Given the description of an element on the screen output the (x, y) to click on. 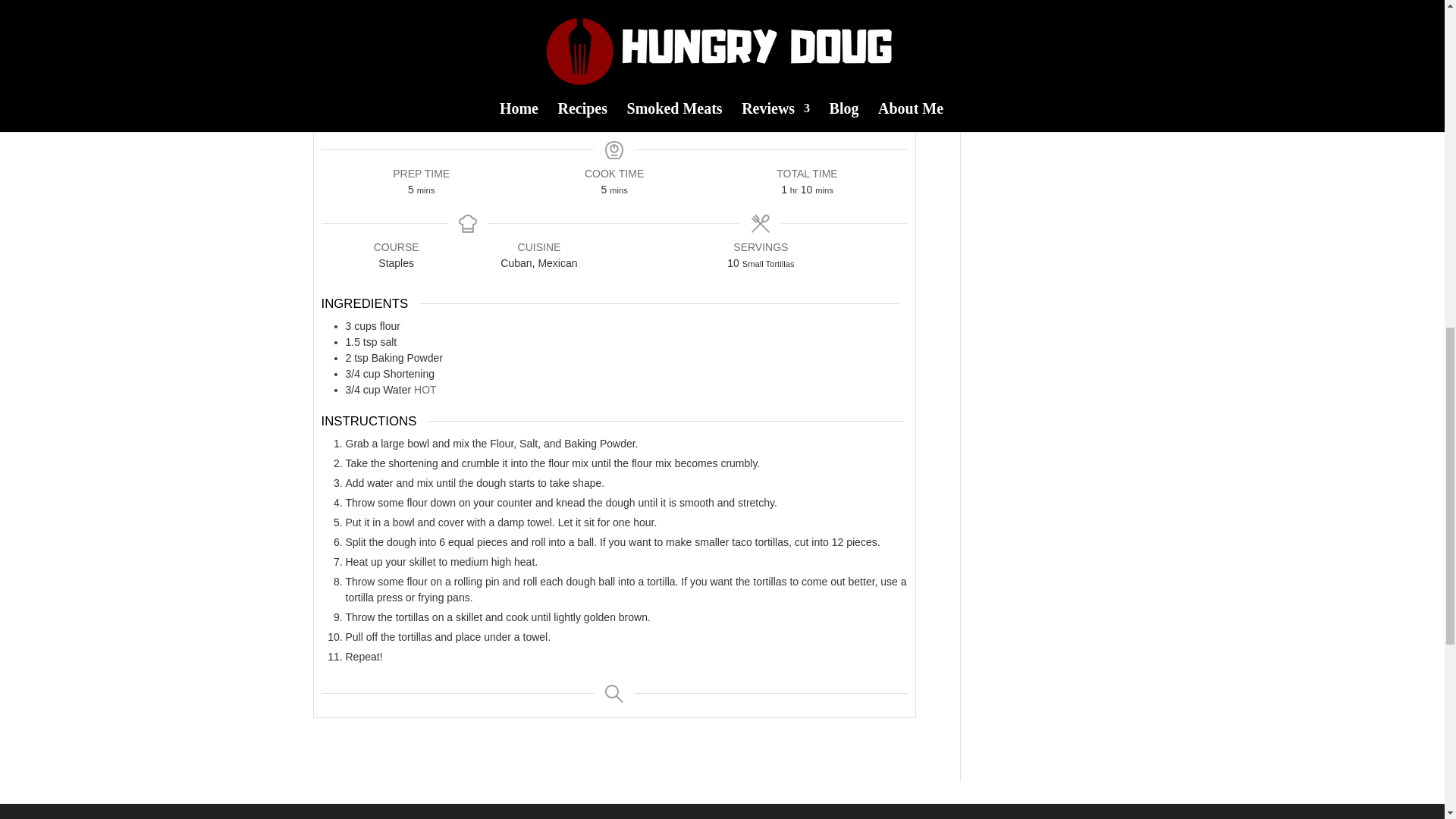
Pin Recipe (763, 104)
Print Recipe (464, 104)
